Given the description of an element on the screen output the (x, y) to click on. 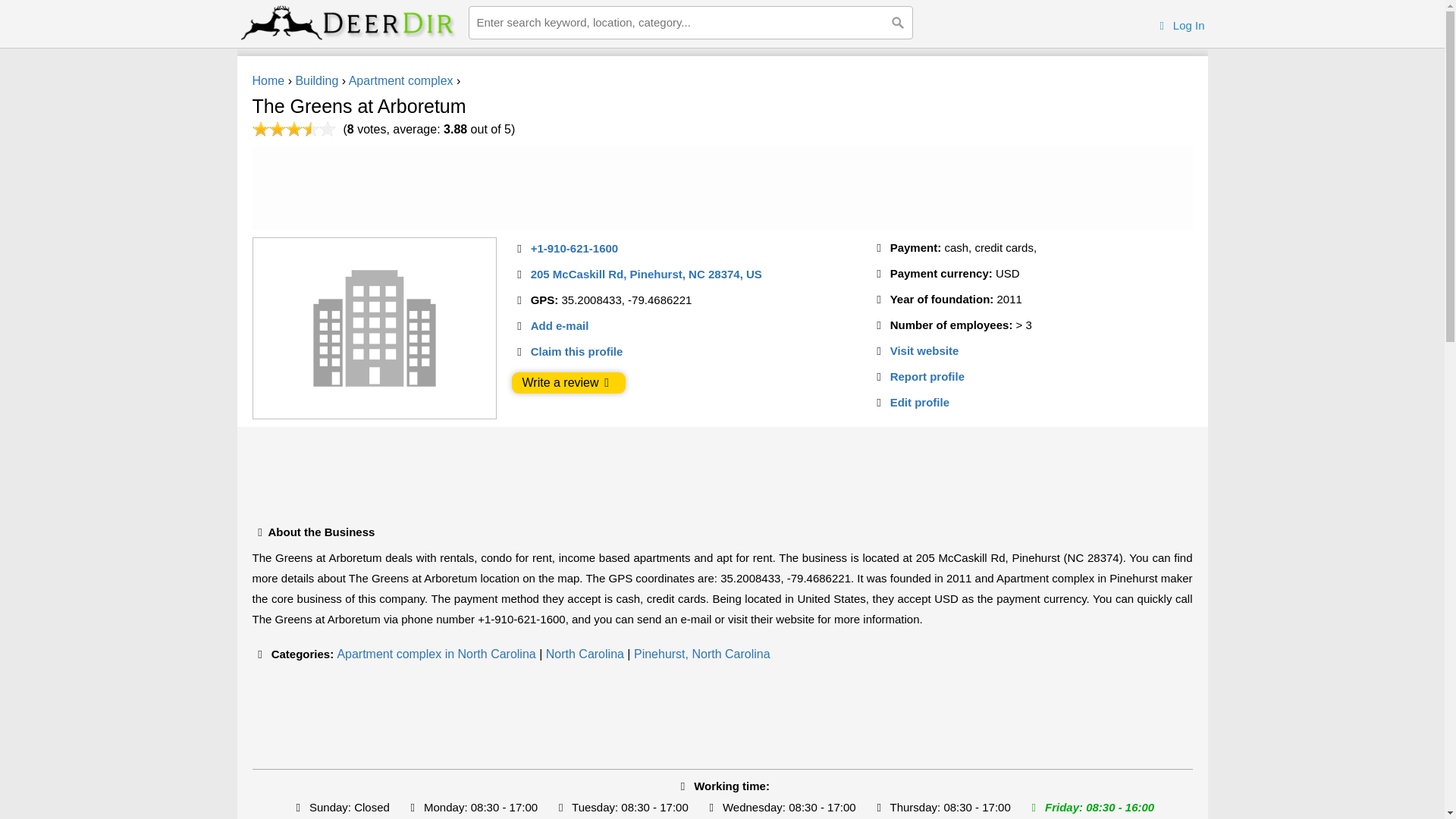
Advertisement (721, 187)
Pinehurst, North Carolina (701, 653)
Add Listing (1179, 24)
Pinehurst, North Carolina (701, 653)
Advertisement (721, 719)
Apartment complex in North Carolina (435, 653)
Search (897, 22)
Apartment complex in North Carolina (435, 653)
Contact, Review and Find Local Businesses - DeerDir (349, 22)
Home (267, 80)
Advertisement (721, 472)
Building (316, 80)
North Carolina (585, 653)
Log In (1179, 24)
Apartment complex (400, 80)
